Given the description of an element on the screen output the (x, y) to click on. 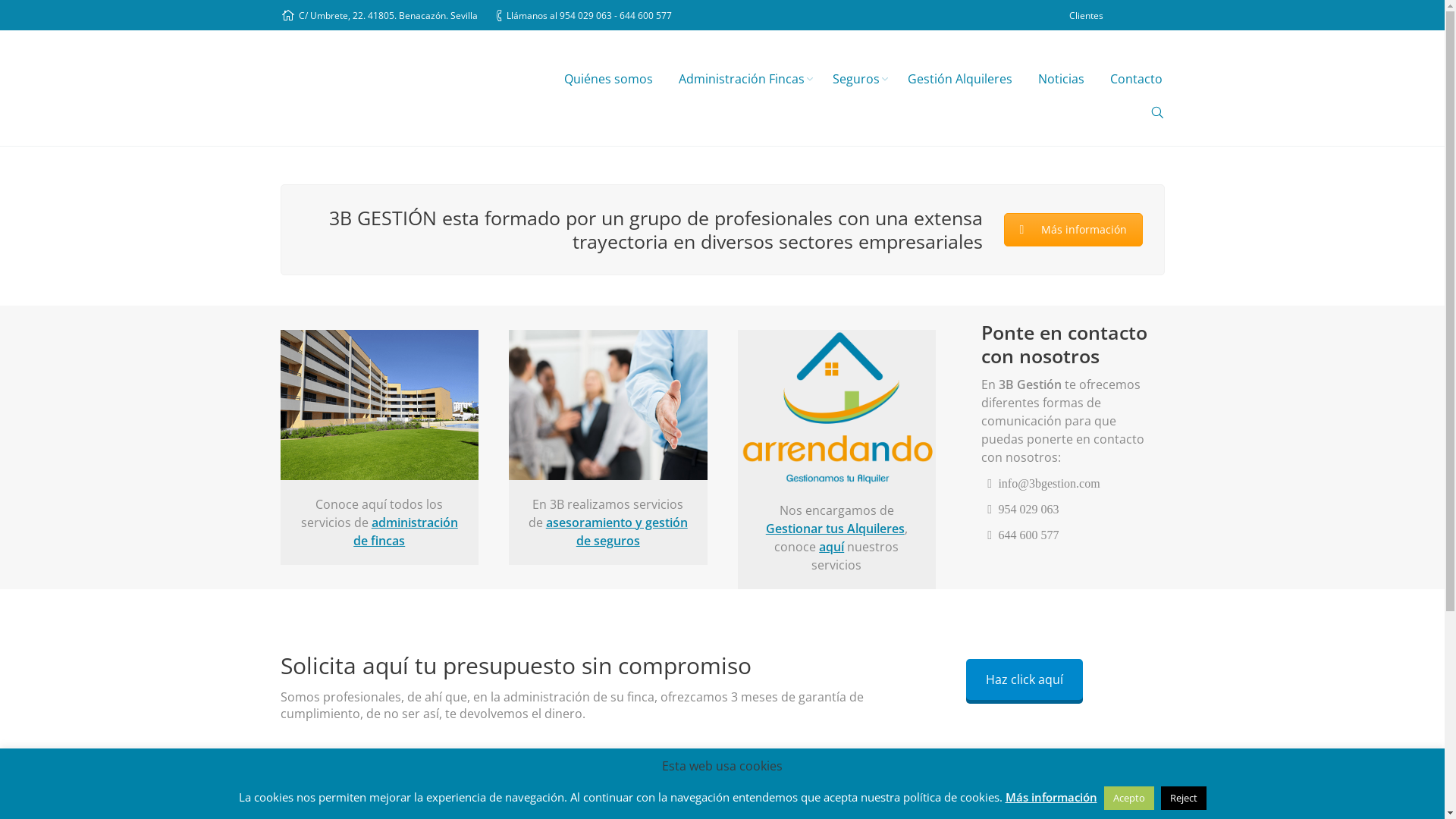
Seguros Element type: text (856, 79)
Clientes Element type: text (1086, 15)
  Element type: text (1157, 112)
Go! Element type: text (17, 14)
Noticias Element type: text (1061, 79)
Contacto Element type: text (1135, 79)
Reject Element type: text (1182, 797)
Acepto Element type: text (1129, 797)
Gestionar tus Alquileres Element type: text (834, 528)
